Given the description of an element on the screen output the (x, y) to click on. 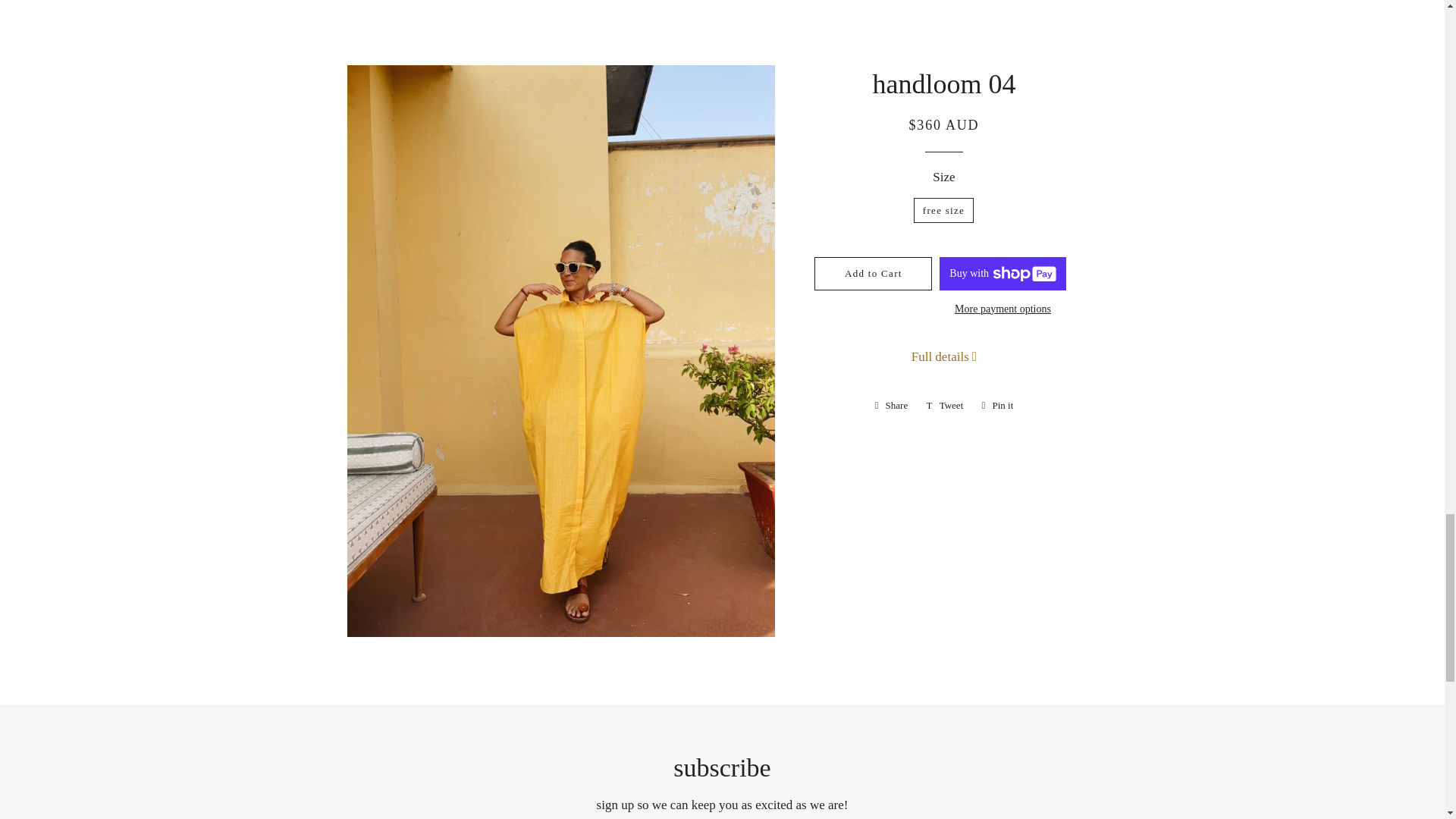
Tweet on Twitter (944, 404)
Share on Facebook (891, 404)
Pin on Pinterest (997, 404)
